Given the description of an element on the screen output the (x, y) to click on. 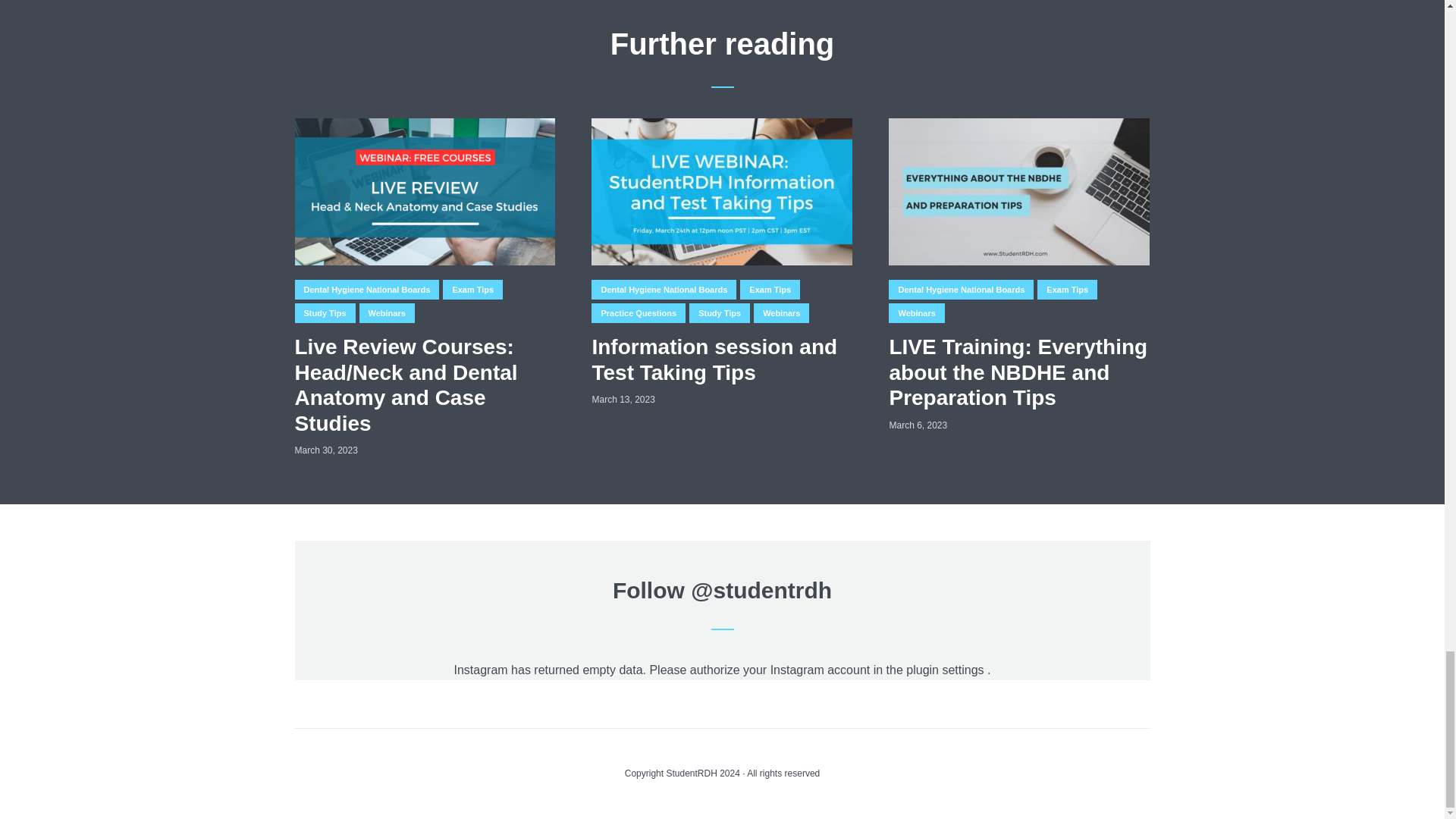
Dental Hygiene National Boards (366, 289)
